Given the description of an element on the screen output the (x, y) to click on. 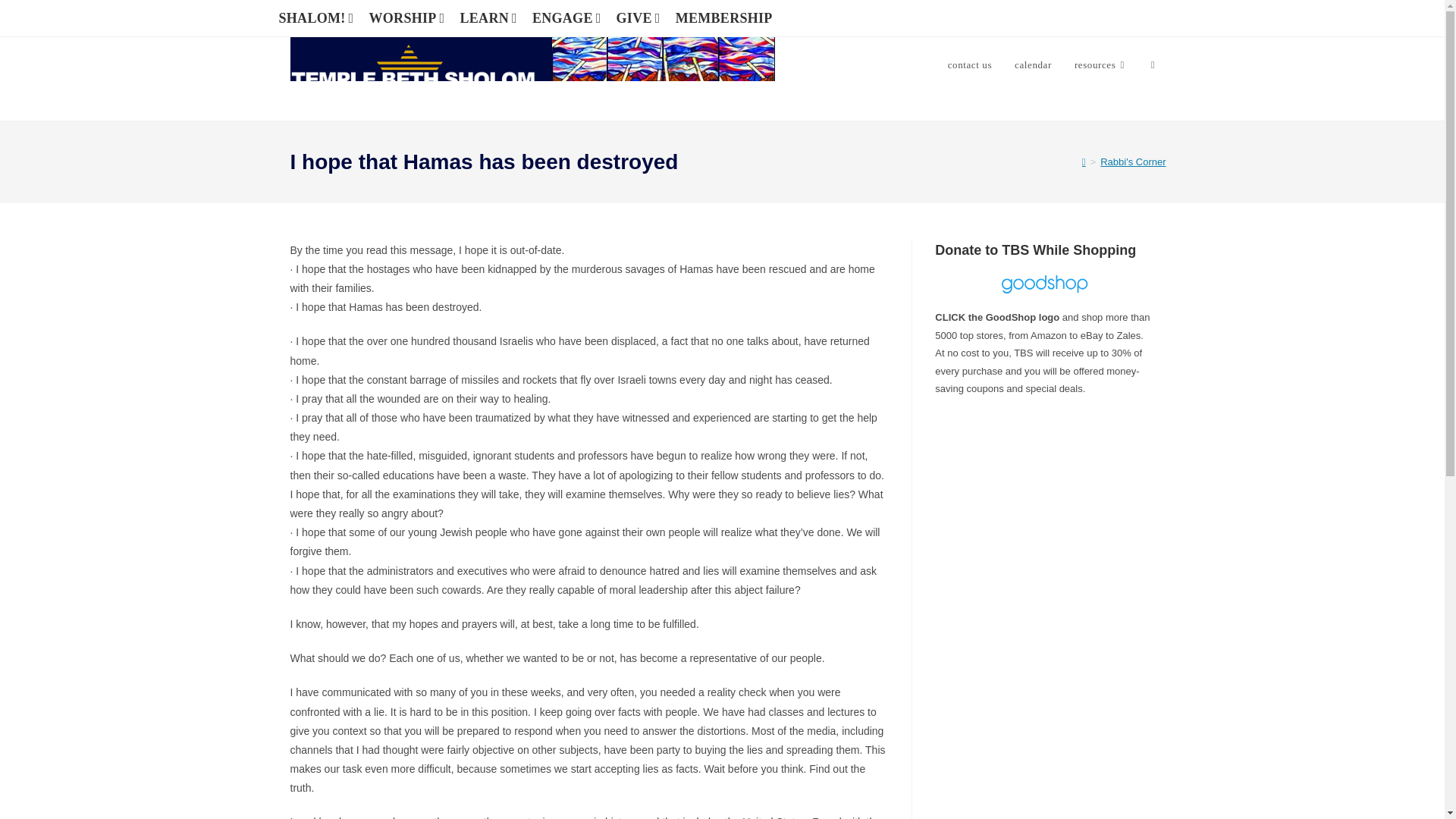
ENGAGE (568, 17)
GIVE (639, 17)
WORSHIP (408, 17)
SHALOM! (318, 17)
LEARN (489, 17)
